Given the description of an element on the screen output the (x, y) to click on. 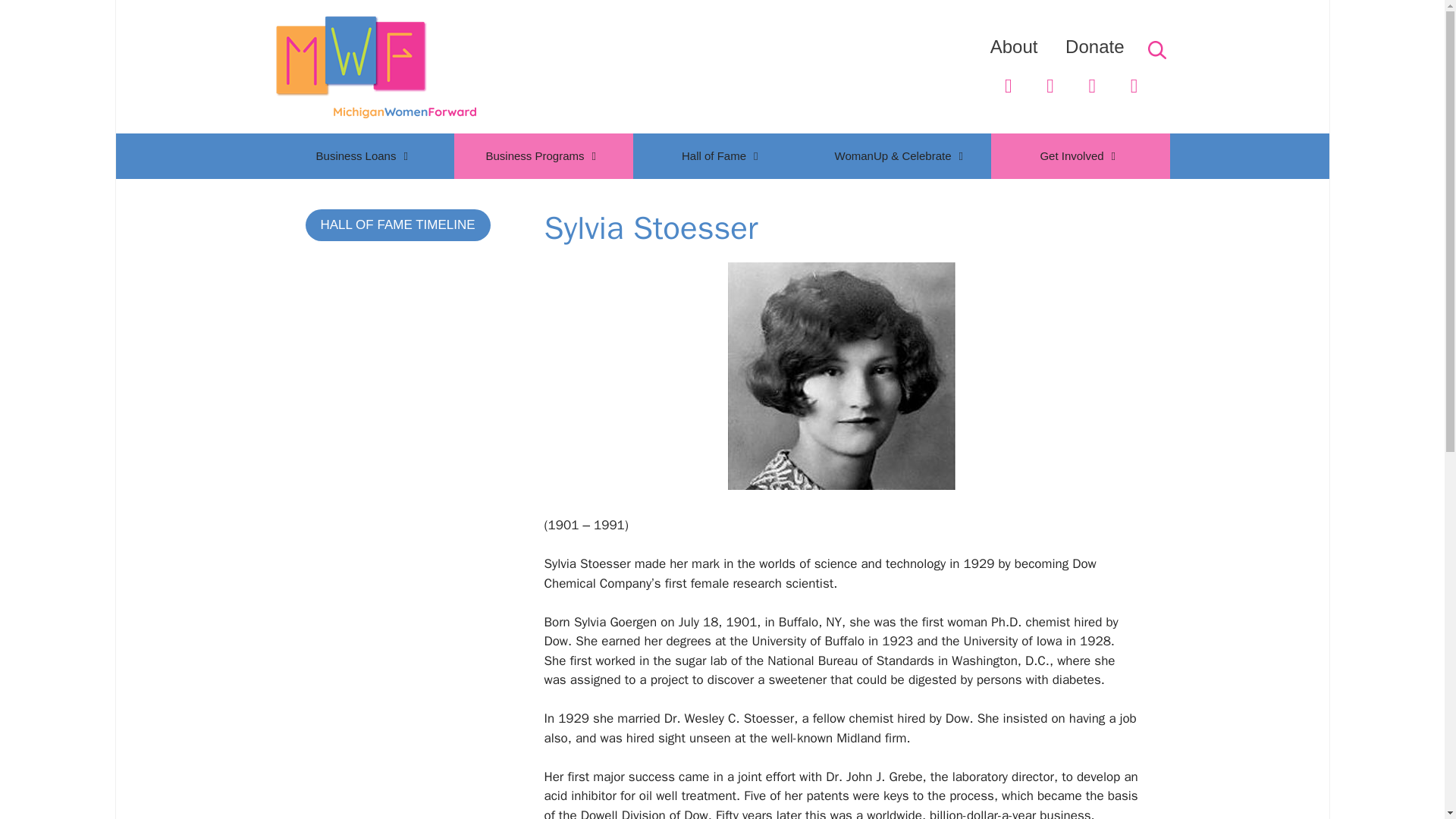
About (1014, 46)
Michigan Women Forward (375, 66)
Twitter (1008, 85)
LinkedIn (1091, 85)
Business Programs (541, 156)
HALL OF FAME TIMELINE (396, 224)
Search (42, 16)
Michigan Women Forward (375, 65)
Facebook (1049, 85)
Hall of Fame (720, 156)
Search for: (1155, 49)
Donate (1094, 46)
Business Loans (363, 156)
Get Involved (1079, 156)
Instagram (1133, 85)
